Given the description of an element on the screen output the (x, y) to click on. 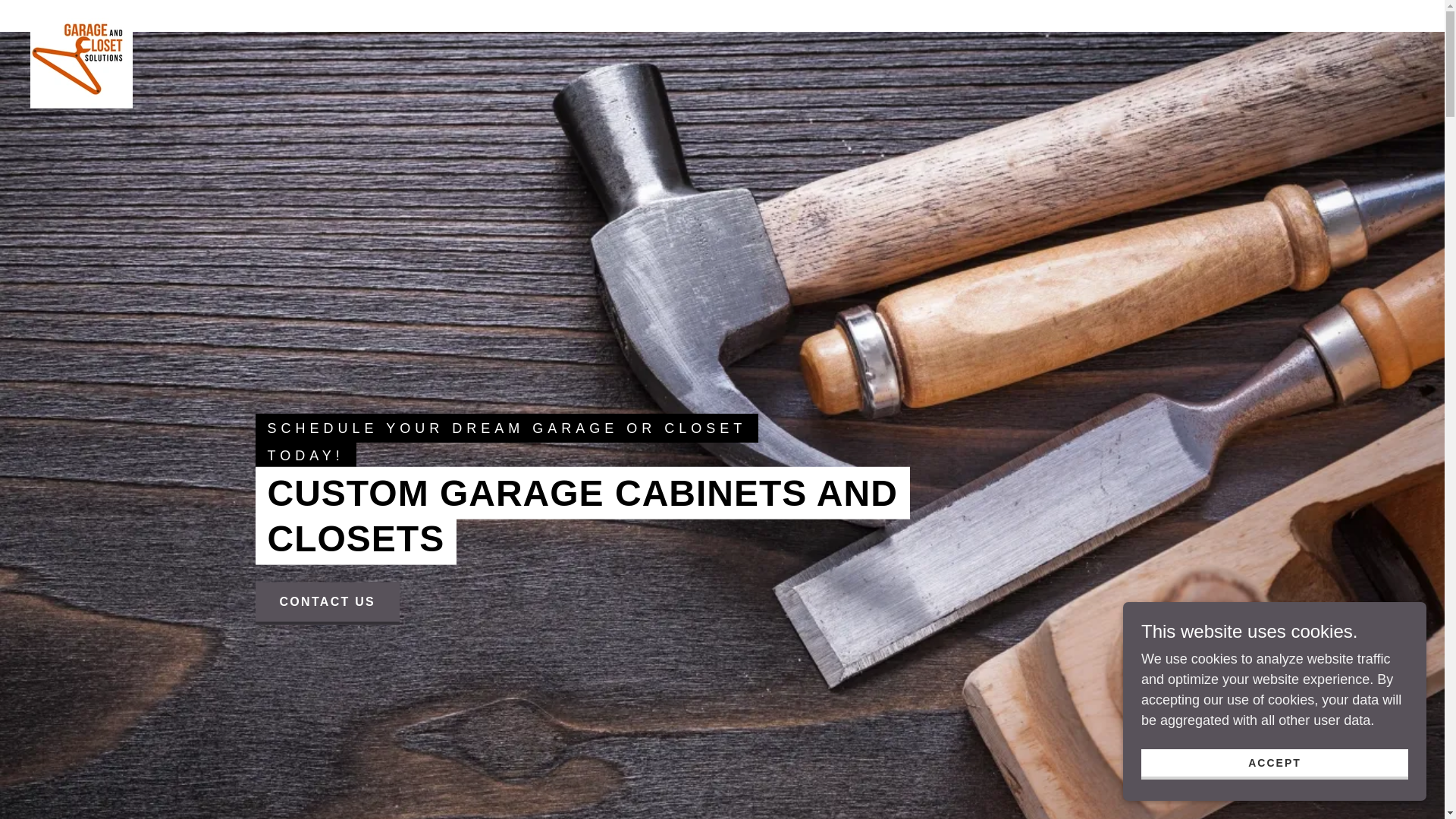
Garage and Closet Solutions (81, 12)
ACCEPT (1274, 764)
CONTACT US (326, 602)
